Given the description of an element on the screen output the (x, y) to click on. 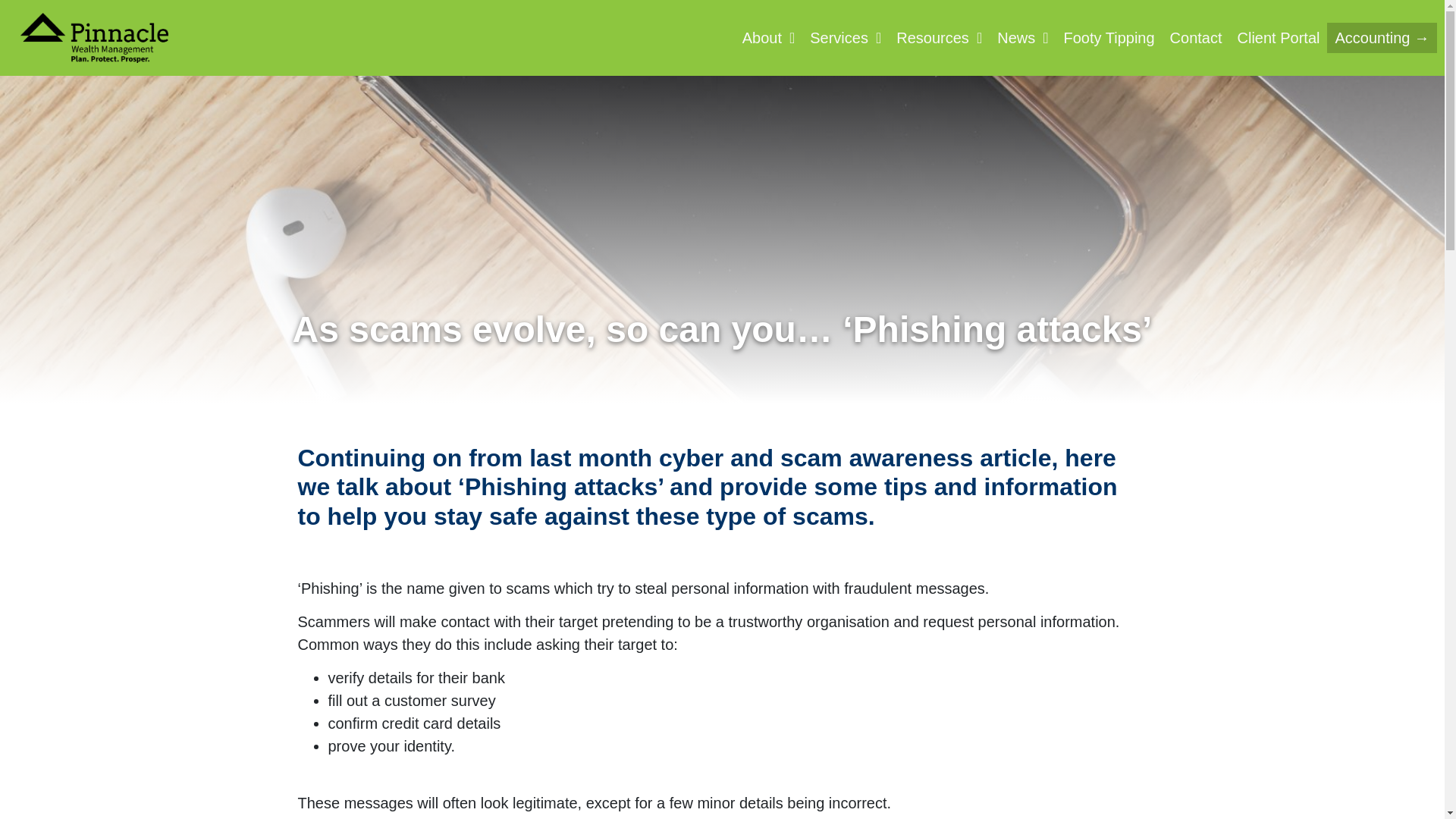
News (1022, 37)
Contact (1195, 37)
Client Portal (1278, 37)
About (769, 37)
Resources (939, 37)
Services (845, 37)
Footy Tipping (1109, 37)
